Given the description of an element on the screen output the (x, y) to click on. 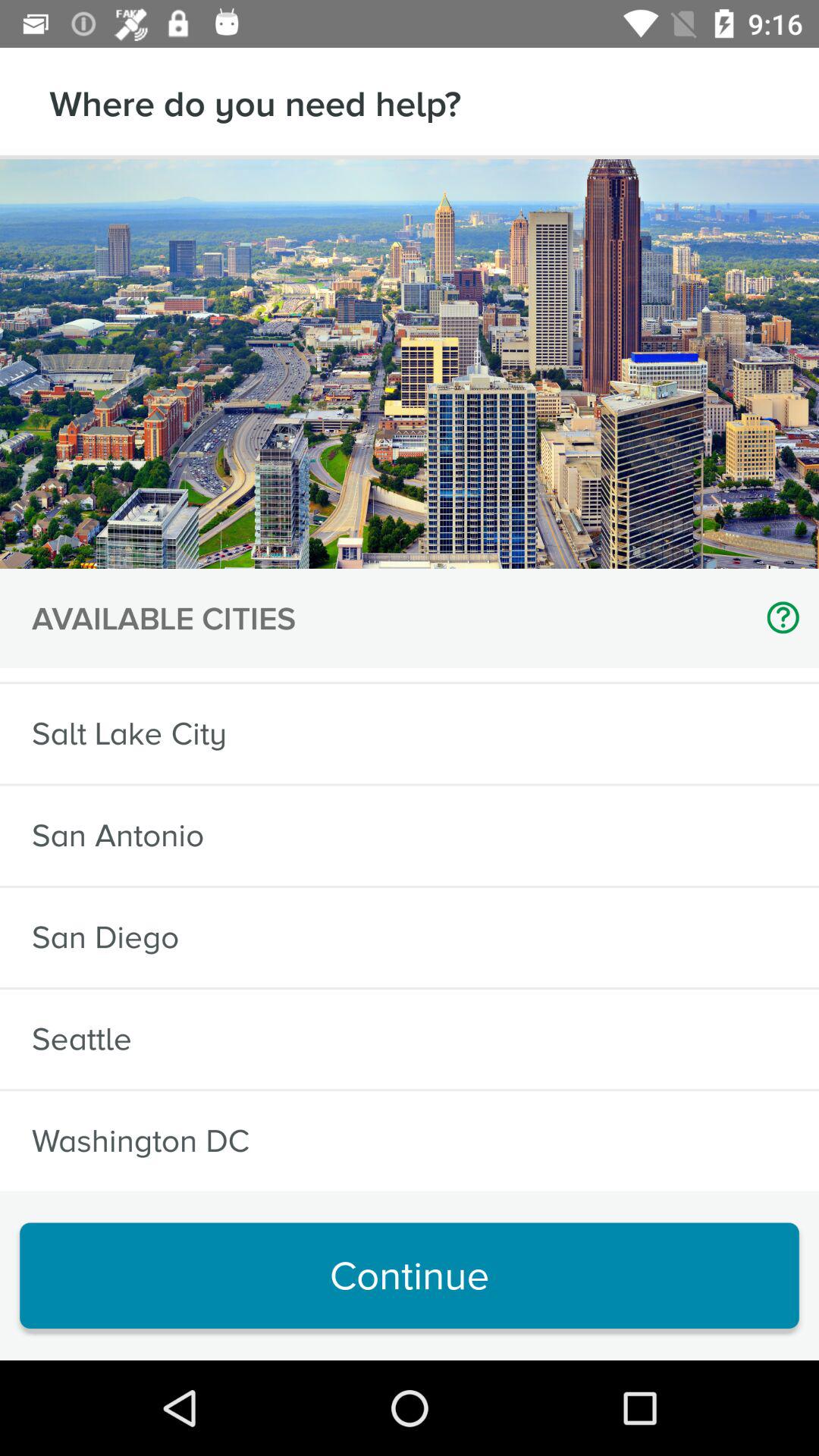
swipe to the continue (409, 1275)
